Given the description of an element on the screen output the (x, y) to click on. 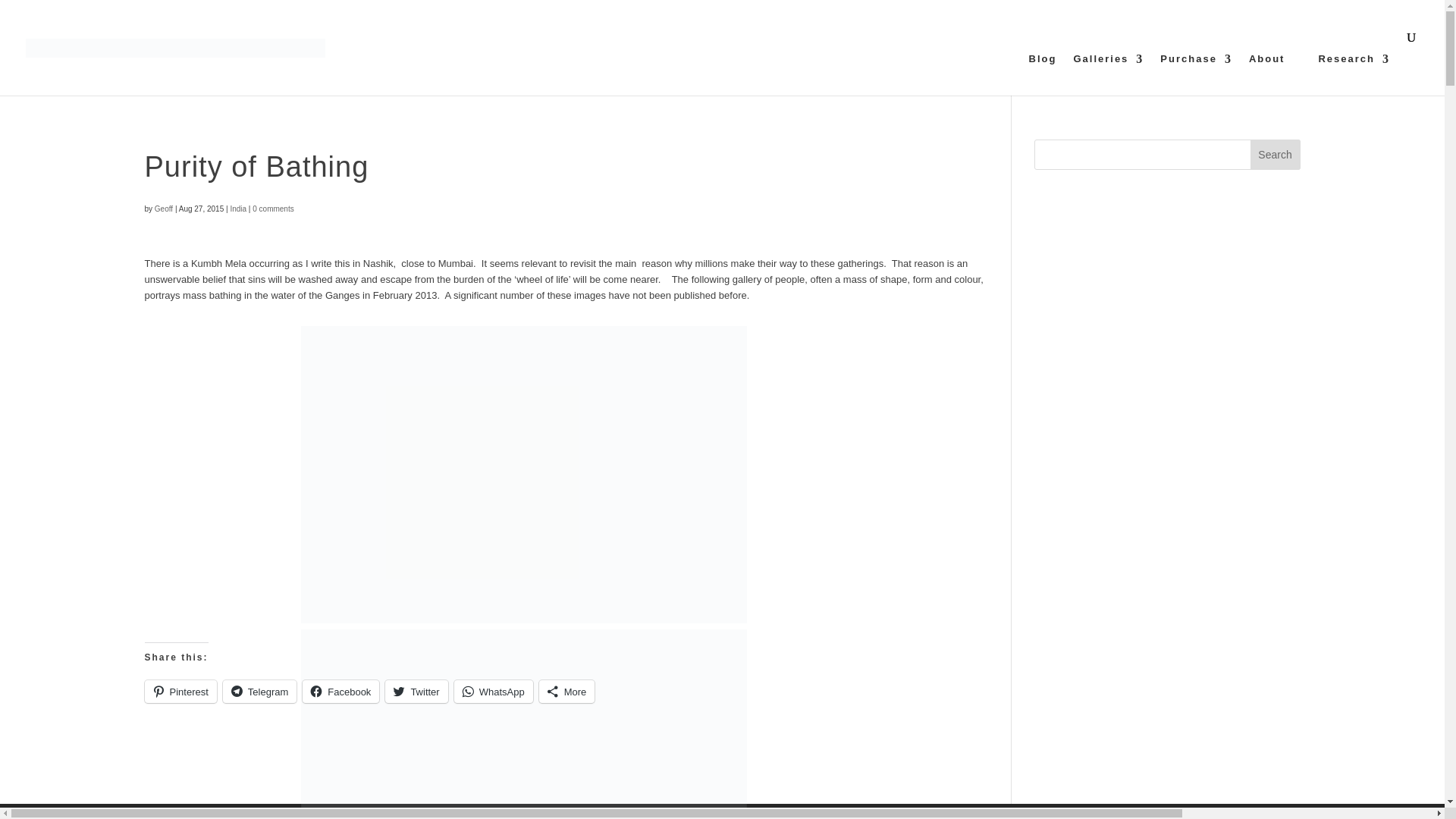
Galleries (1107, 74)
Posts by Geoff (163, 208)
Research (1353, 74)
Search (1275, 154)
Purchase (1195, 74)
